Given the description of an element on the screen output the (x, y) to click on. 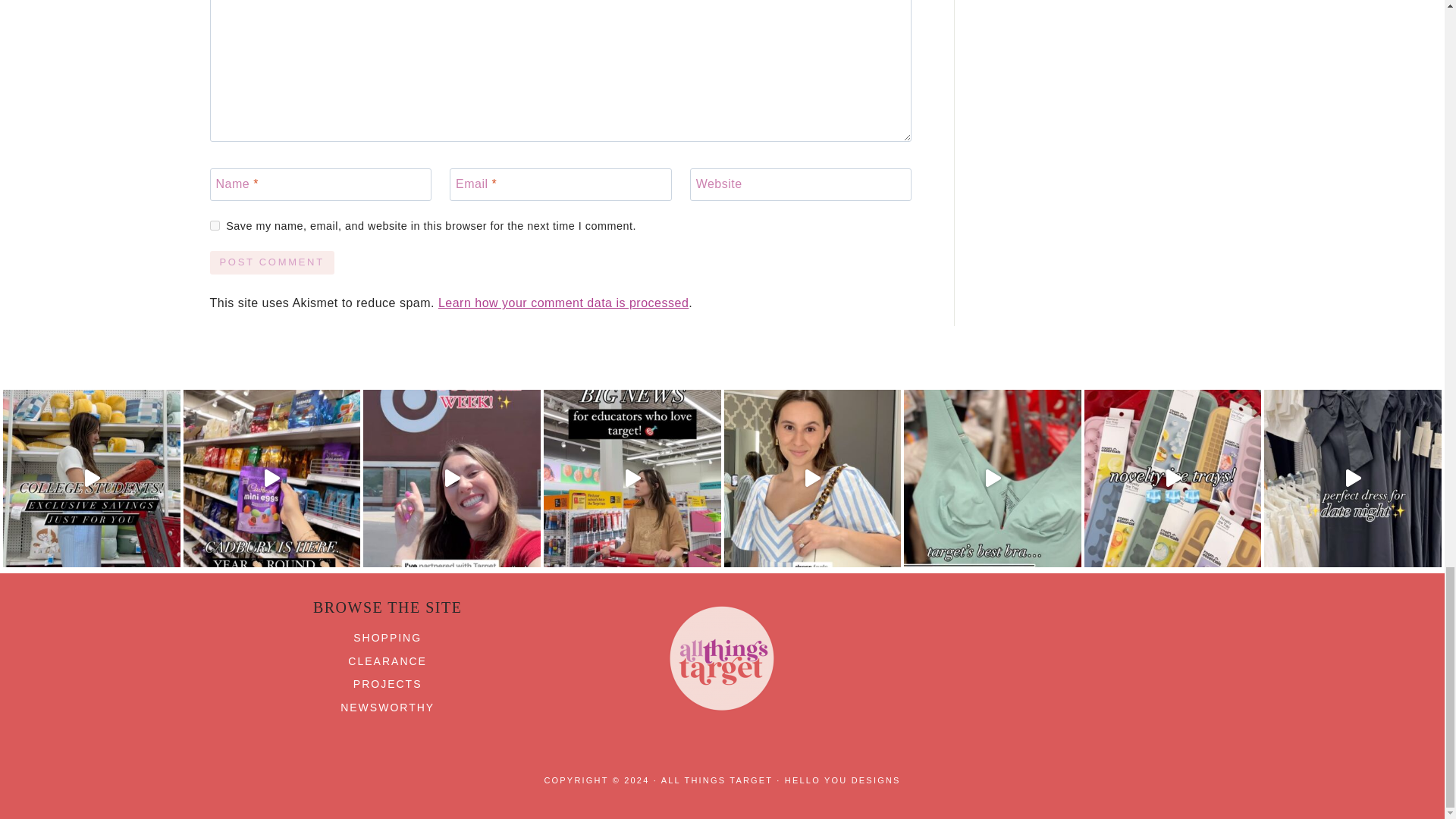
yes (214, 225)
Post Comment (271, 262)
